Given the description of an element on the screen output the (x, y) to click on. 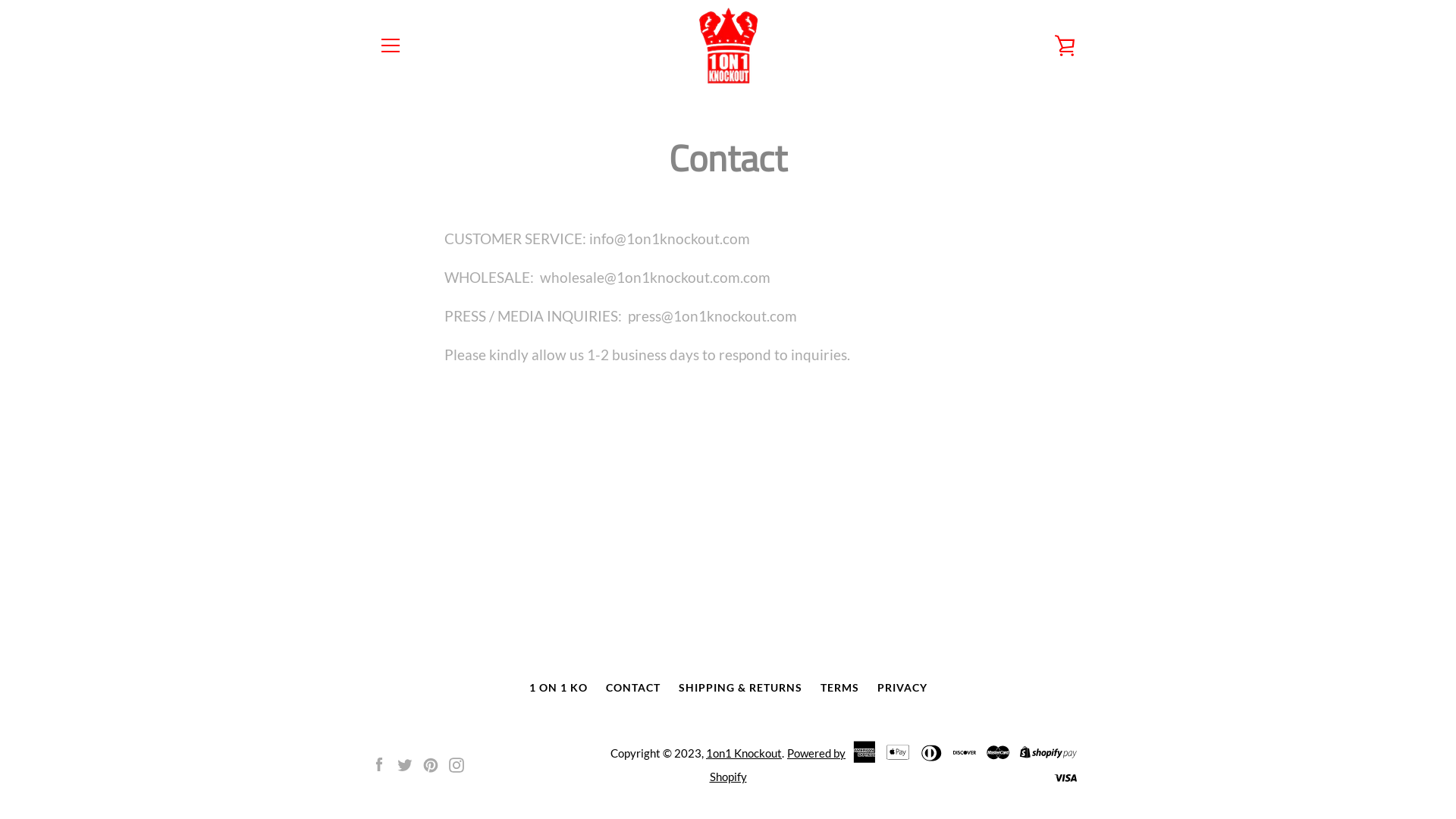
VIEW CART Element type: text (1065, 45)
SHIPPING & RETURNS Element type: text (739, 686)
TERMS Element type: text (839, 686)
Powered by Shopify Element type: text (777, 764)
Pinterest Element type: text (430, 762)
1on1 Knockout Element type: text (743, 752)
Skip to content Element type: text (0, 0)
1 ON 1 KO Element type: text (558, 686)
Instagram Element type: text (456, 762)
CONTACT Element type: text (632, 686)
Twitter Element type: text (404, 762)
PRIVACY Element type: text (901, 686)
Facebook Element type: text (378, 762)
EXPAND NAVIGATION Element type: text (390, 45)
